Given the description of an element on the screen output the (x, y) to click on. 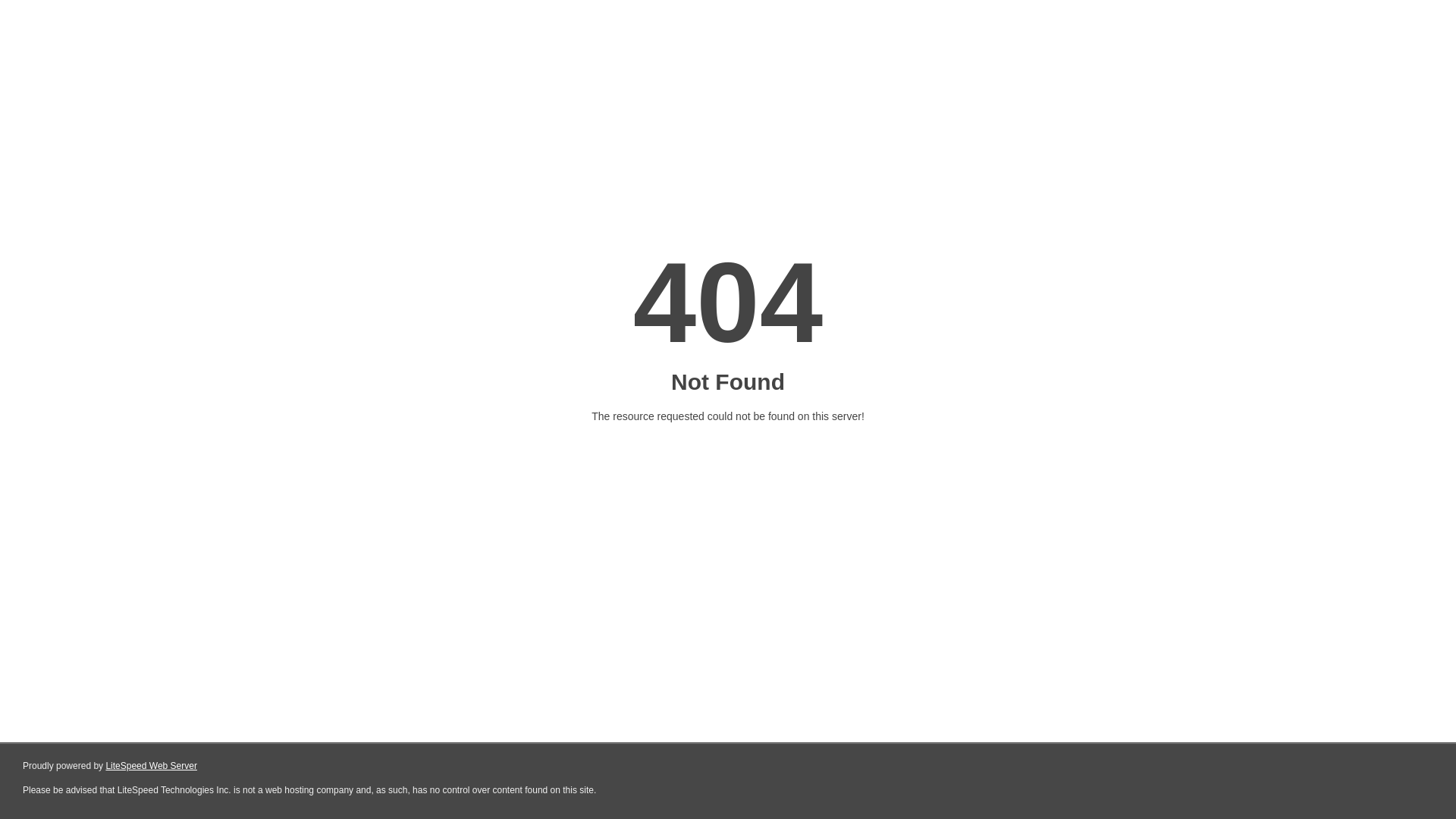
LiteSpeed Web Server Element type: text (151, 765)
